Given the description of an element on the screen output the (x, y) to click on. 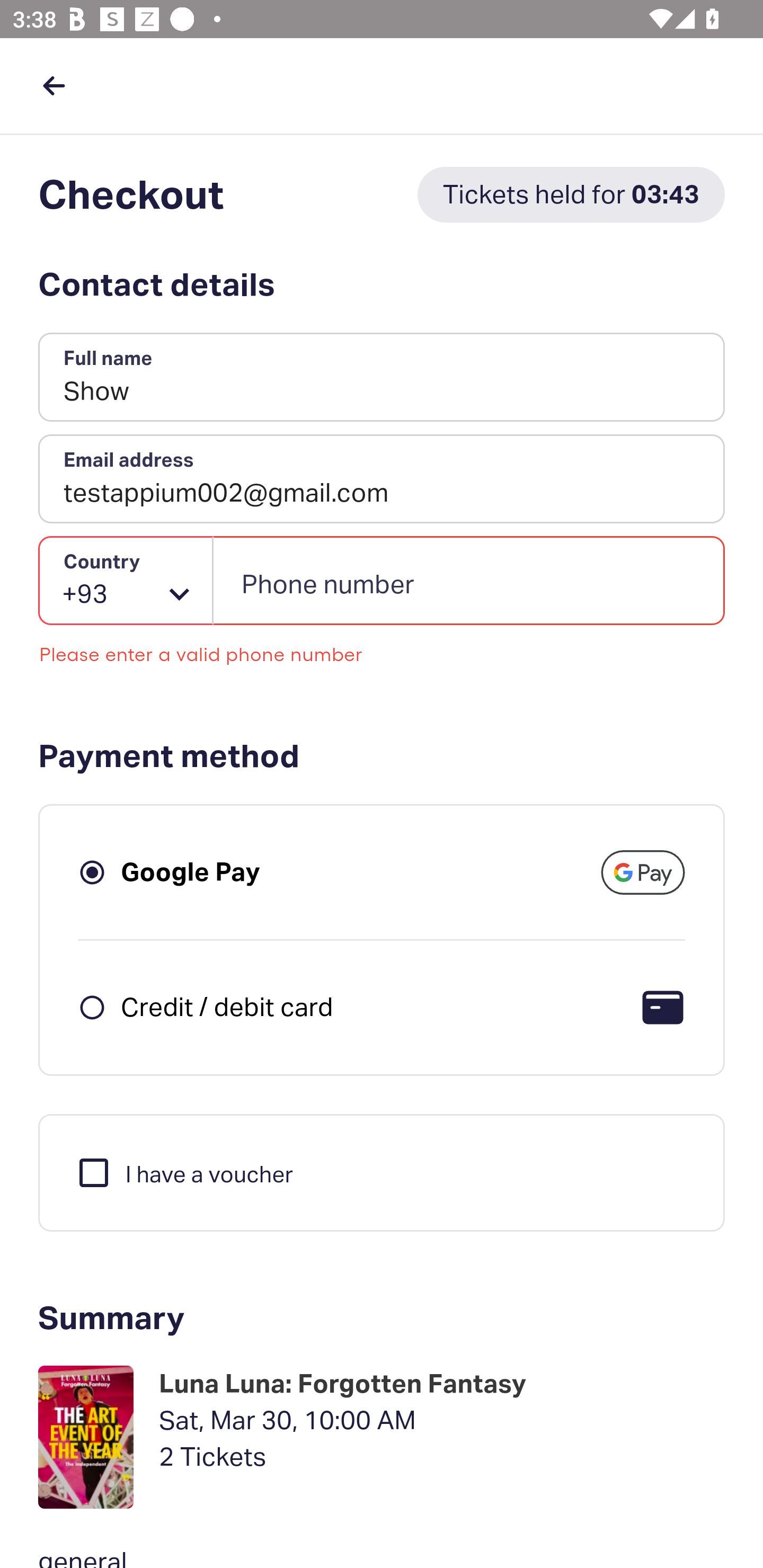
back button (53, 85)
Show (381, 377)
testappium002@gmail.com (381, 478)
  +93 (126, 580)
Google Pay (190, 871)
Credit / debit card (227, 1006)
I have a voucher (183, 1171)
